Given the description of an element on the screen output the (x, y) to click on. 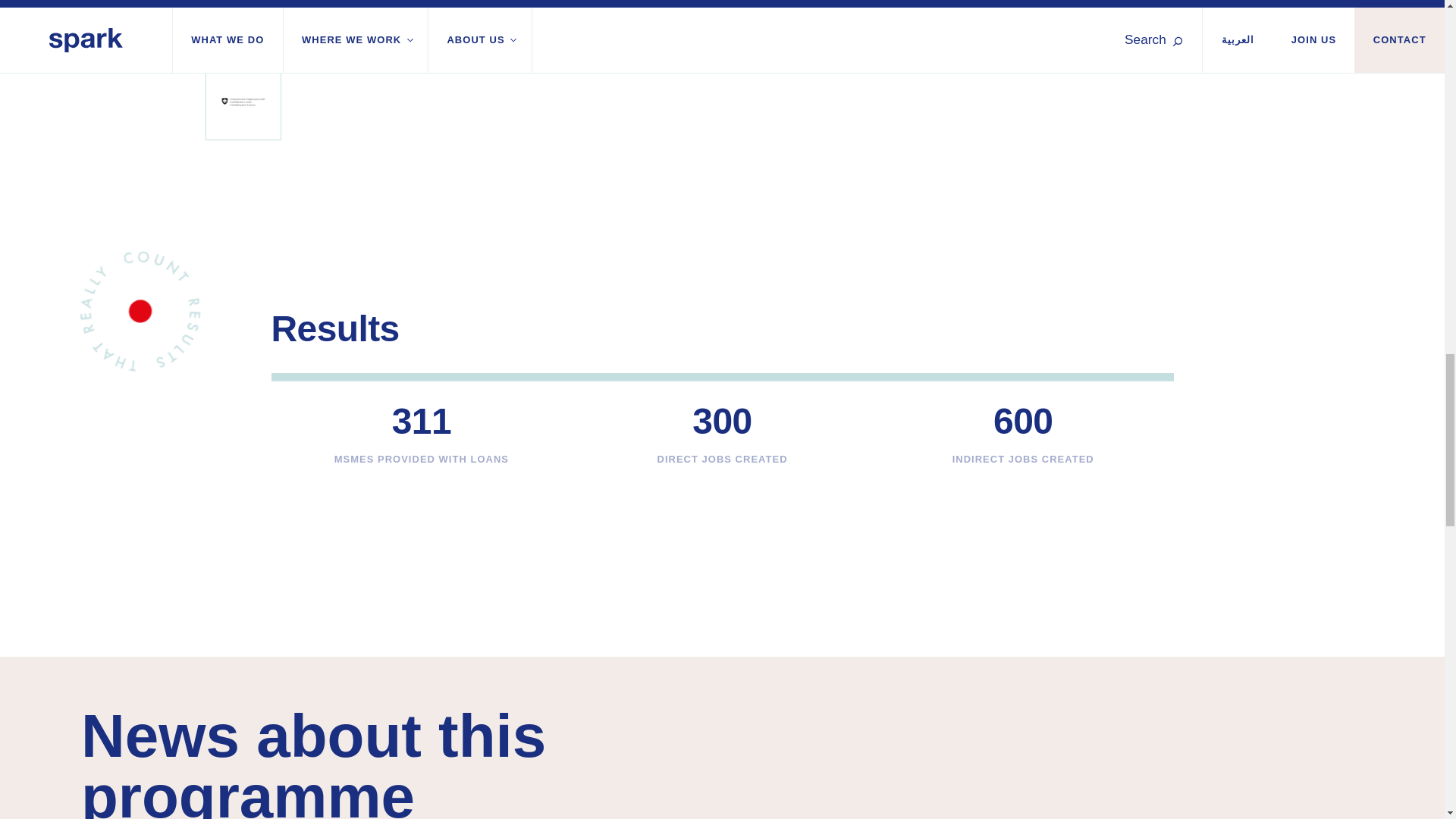
impact-numbers Created with Sketch. (139, 310)
